Given the description of an element on the screen output the (x, y) to click on. 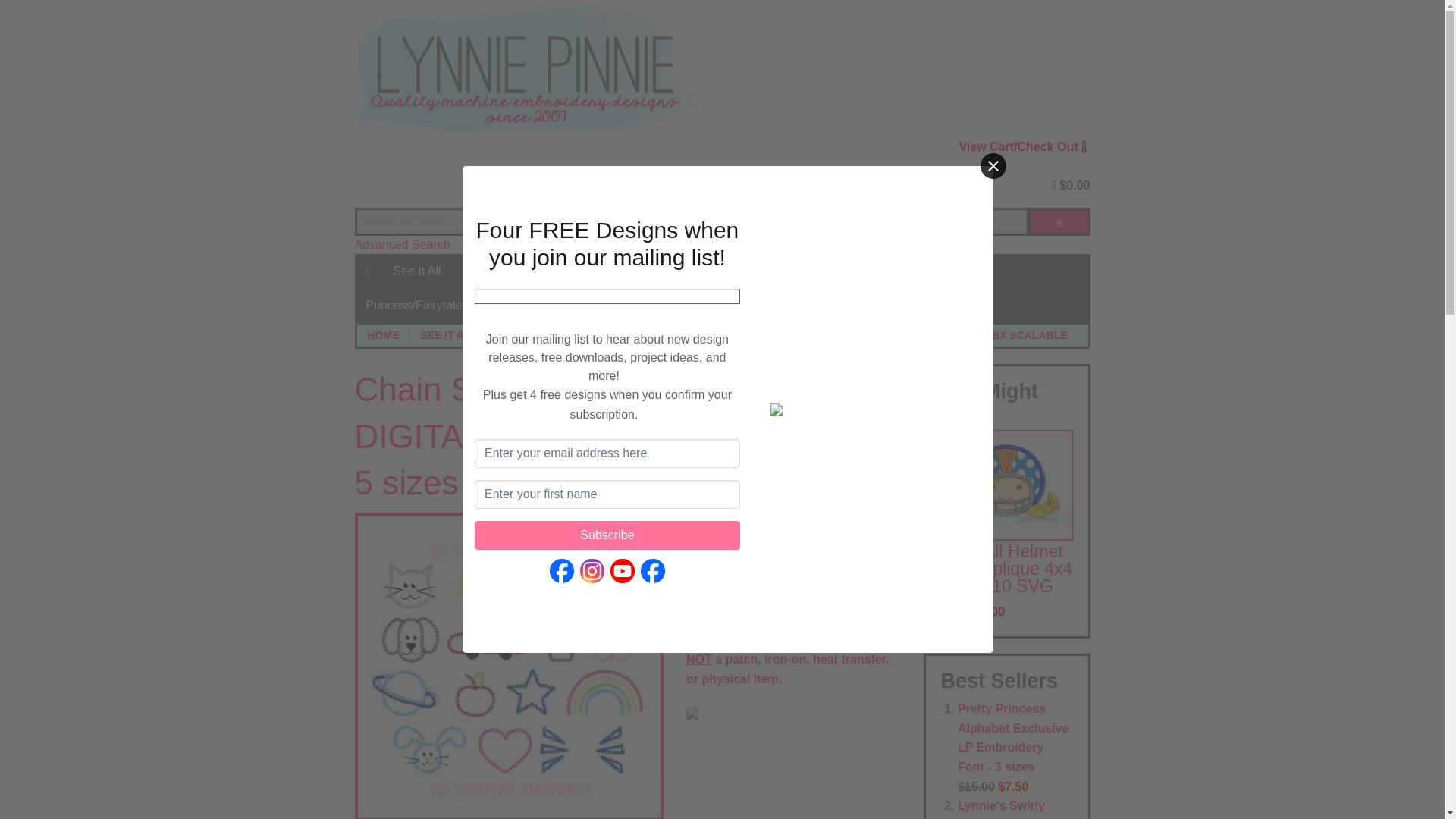
See All Fonts, Alphabets, and Frames (620, 328)
Number Sets (620, 533)
1 (703, 563)
Satin Stitch Fonts (620, 567)
Login (833, 185)
Uniquely LP (620, 669)
Bean, Blanket, and Decorative Stitch Applique Designs (753, 328)
Register (884, 185)
BX Fonts for Embrilliance Software (620, 397)
Applique Fonts (620, 499)
Embroidery Fonts (620, 270)
New Releases (502, 270)
BX Fonts for Embrilliance Software (620, 397)
Subscribe (606, 534)
Sketch and Triple Run Fonts (620, 430)
